Given the description of an element on the screen output the (x, y) to click on. 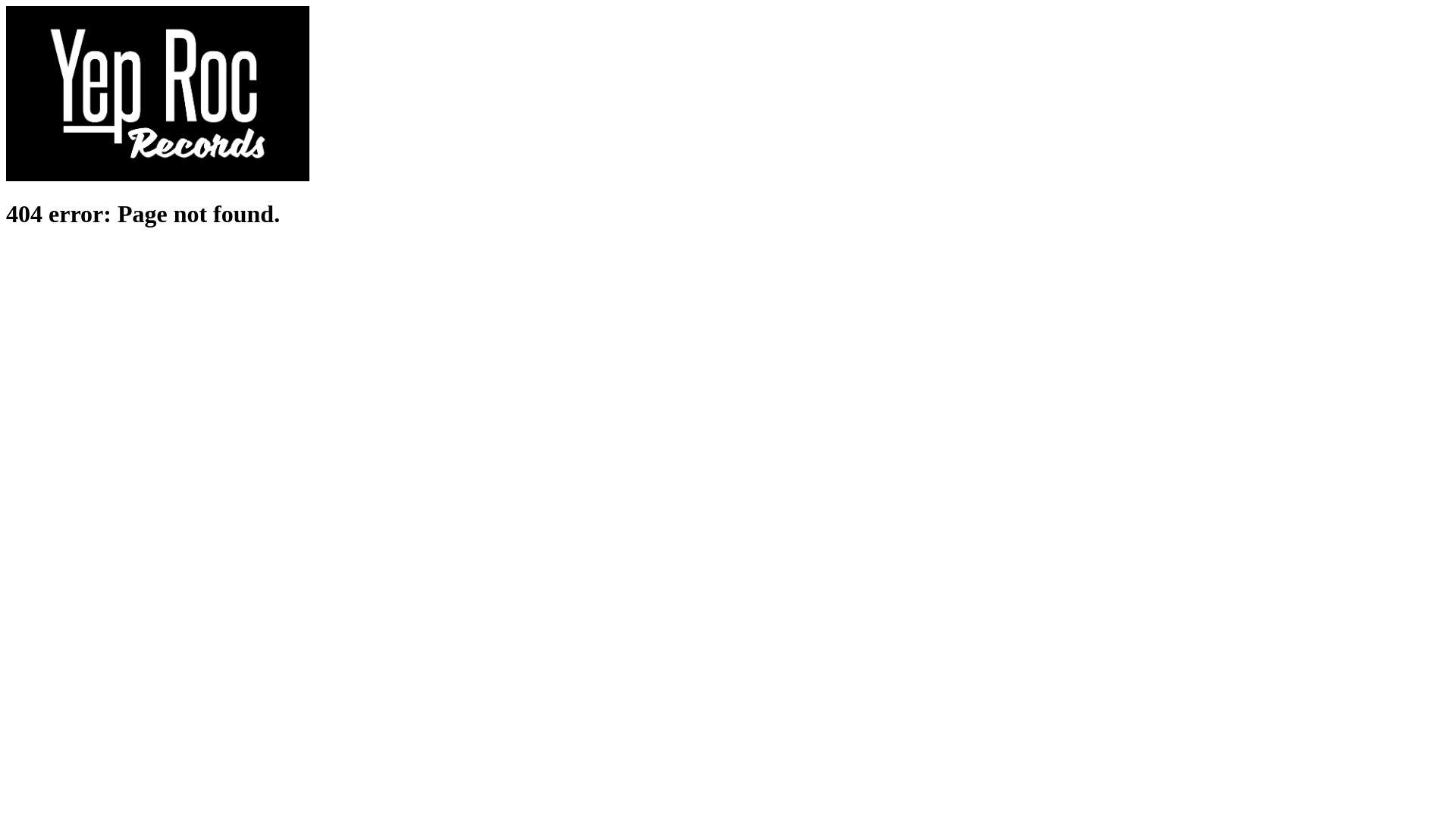
Yep Roc Records Element type: hover (157, 176)
